Given the description of an element on the screen output the (x, y) to click on. 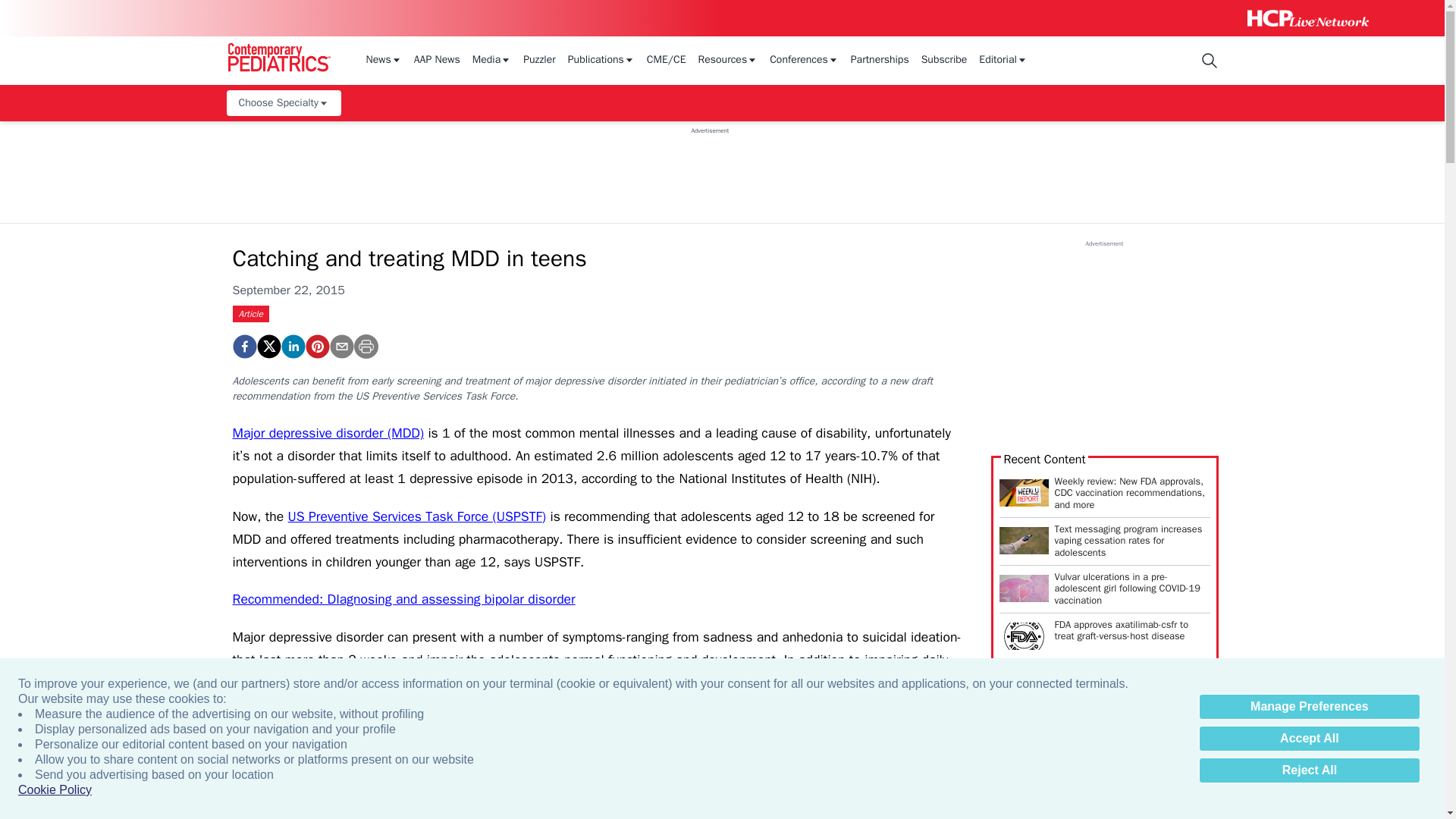
Media (491, 60)
3rd party ad content (709, 169)
AAP News (436, 60)
Reject All (1309, 769)
Catching and treating MDD in teens (243, 346)
Puzzler (539, 60)
News (383, 60)
Accept All (1309, 738)
Cookie Policy (54, 789)
Catching and treating MDD in teens (316, 346)
